Given the description of an element on the screen output the (x, y) to click on. 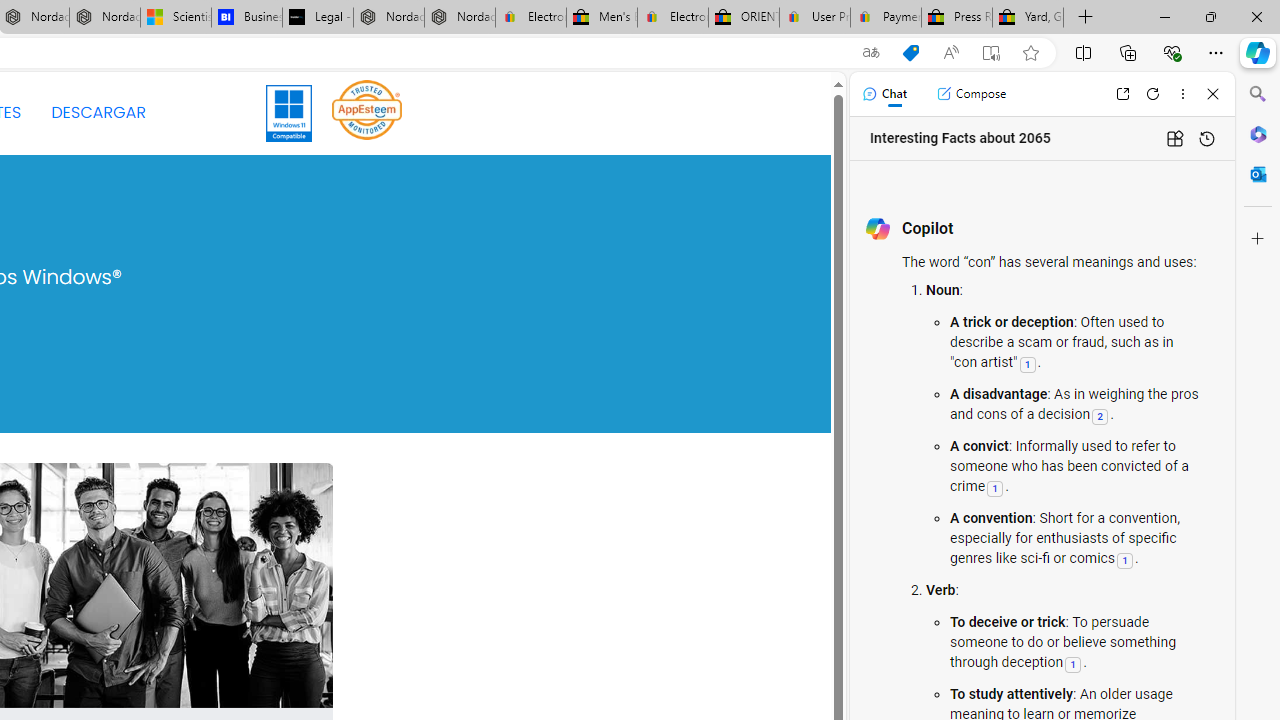
App Esteem (367, 112)
App Esteem (367, 109)
Nordace - Summer Adventures 2024 (388, 17)
Shopping in Microsoft Edge (910, 53)
